Given the description of an element on the screen output the (x, y) to click on. 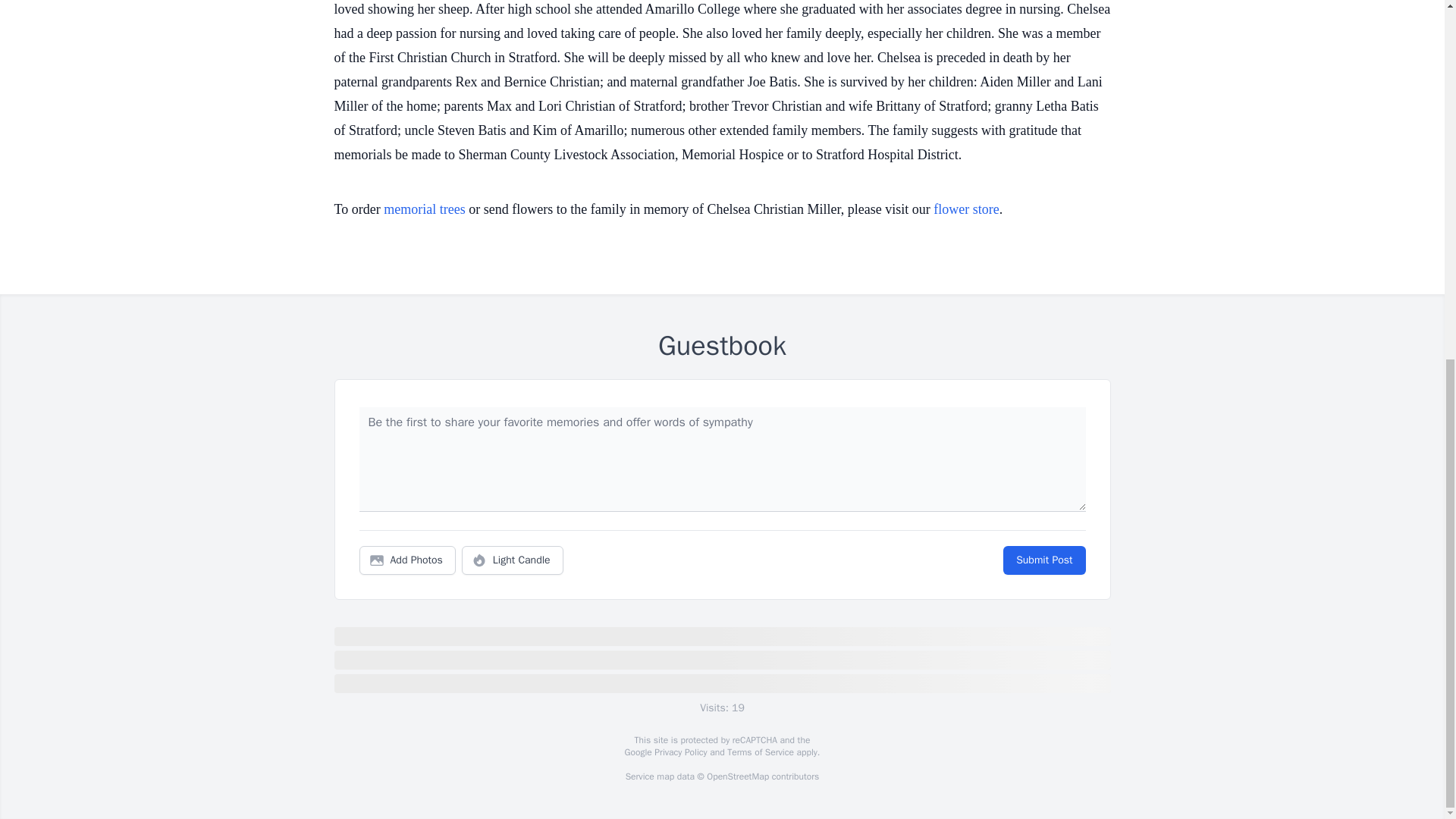
Add Photos (407, 560)
Submit Post (1043, 560)
memorial trees (424, 209)
Terms of Service (759, 752)
Privacy Policy (679, 752)
OpenStreetMap (737, 776)
Light Candle (512, 560)
flower store (965, 209)
